Given the description of an element on the screen output the (x, y) to click on. 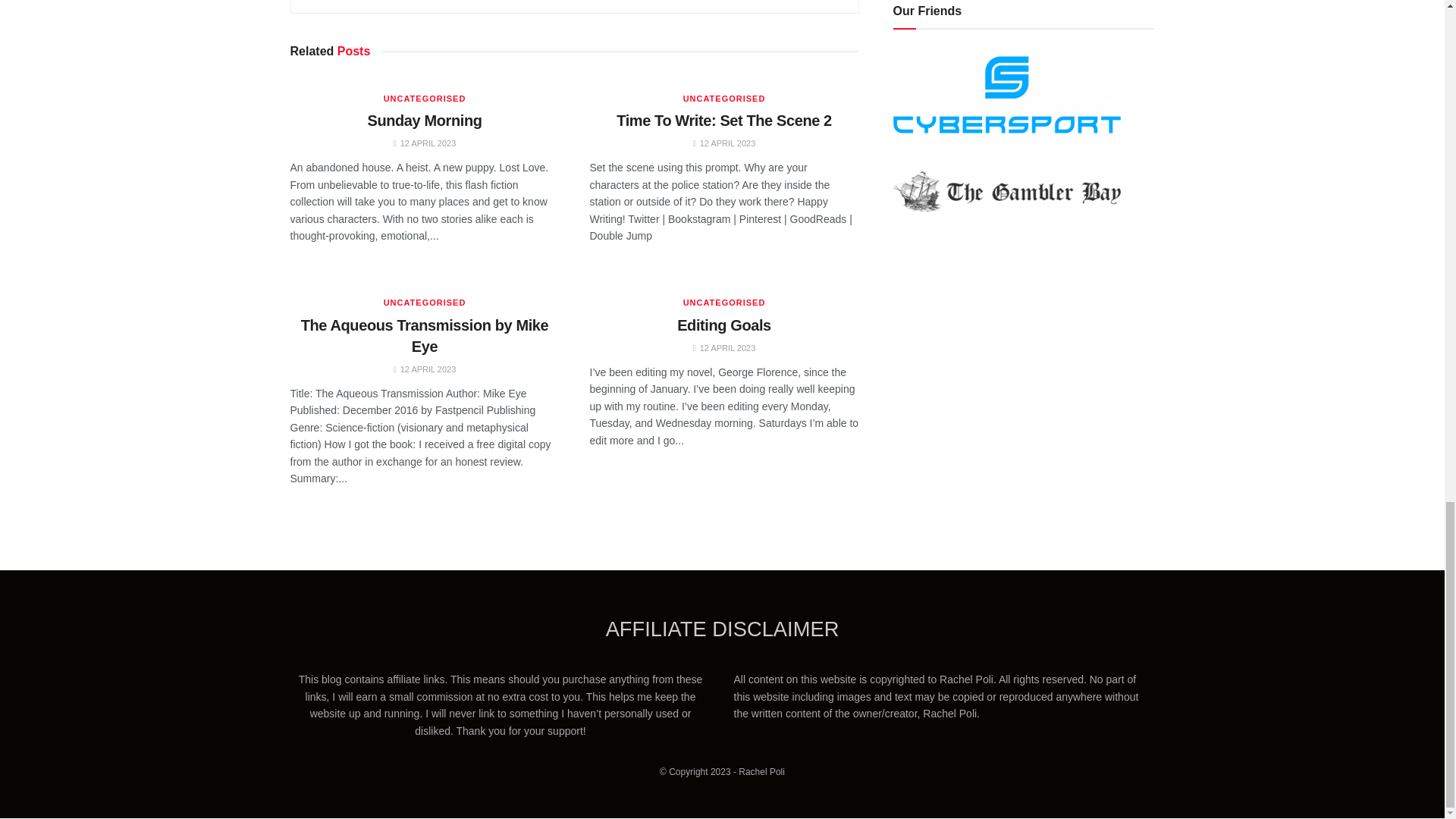
Sunday Morning (423, 120)
UNCATEGORISED (424, 302)
UNCATEGORISED (424, 99)
The Aqueous Transmission by Mike Eye (424, 335)
Time To Write: Set The Scene 2 (723, 120)
UNCATEGORISED (723, 99)
